Given the description of an element on the screen output the (x, y) to click on. 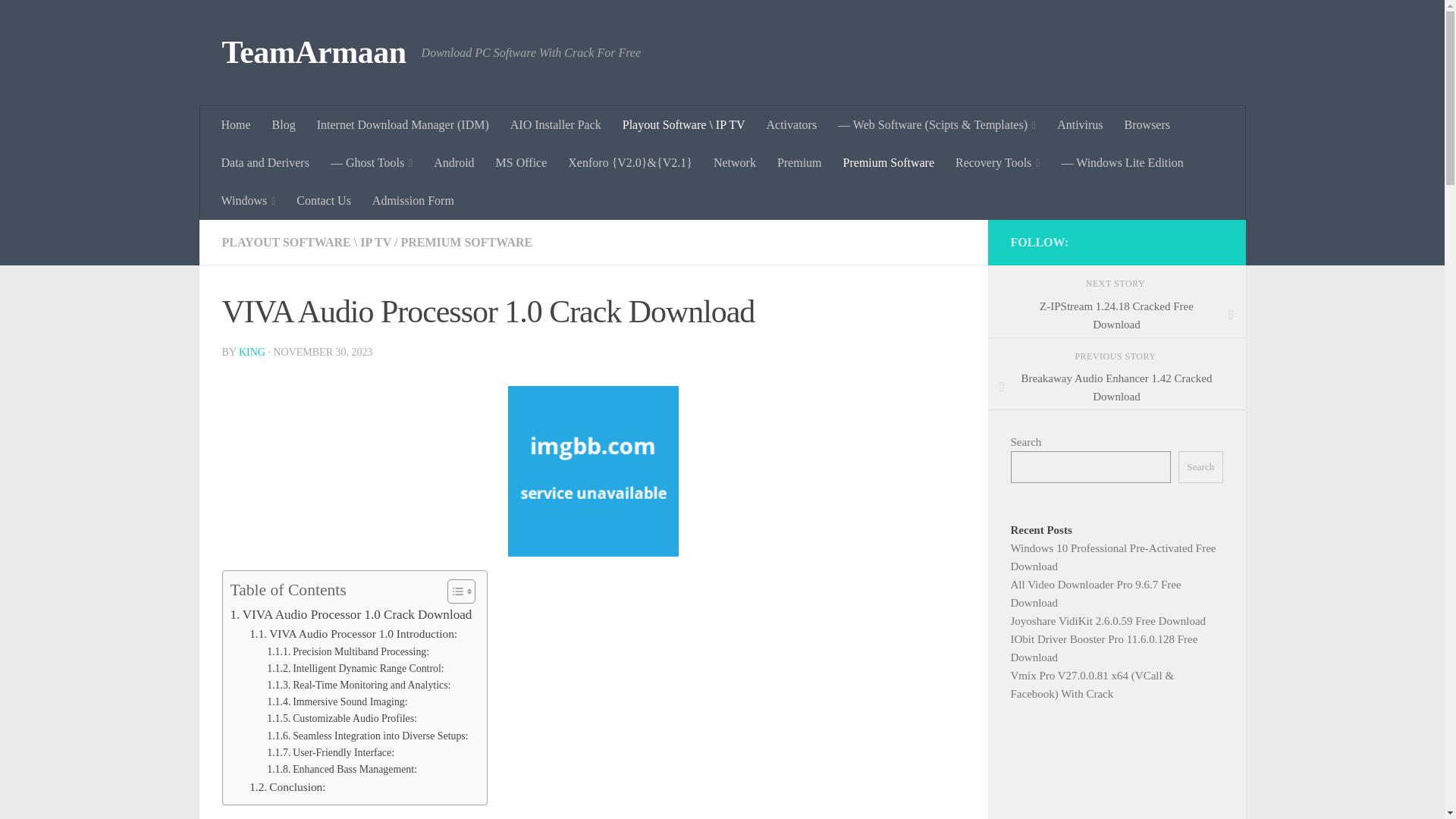
Enhanced Bass Management: (341, 769)
Real-Time Monitoring and Analytics: (357, 685)
Seamless Integration into Diverse Setups: (366, 736)
Skip to content (59, 20)
Customizable Audio Profiles: (341, 718)
VIVA Audio Processor 1.0 Crack Download (350, 614)
TeamArmaan (313, 53)
User-Friendly Interface: (330, 752)
Immersive Sound Imaging: (336, 701)
Precision Multiband Processing: (347, 651)
Conclusion: (286, 787)
VIVA Audio Processor 1.0 Introduction: (352, 633)
Posts by King (251, 351)
Intelligent Dynamic Range Control: (355, 668)
